Given the description of an element on the screen output the (x, y) to click on. 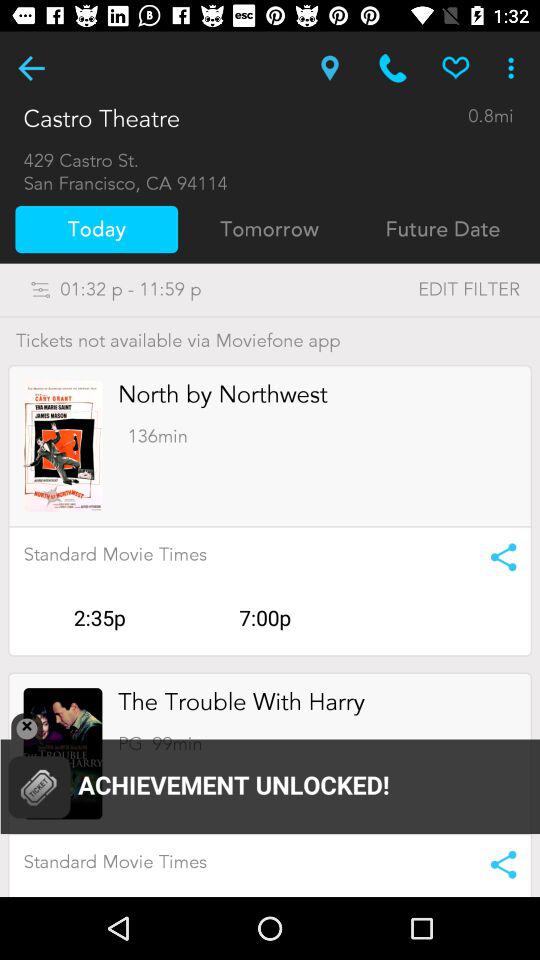
setting button (496, 864)
